Given the description of an element on the screen output the (x, y) to click on. 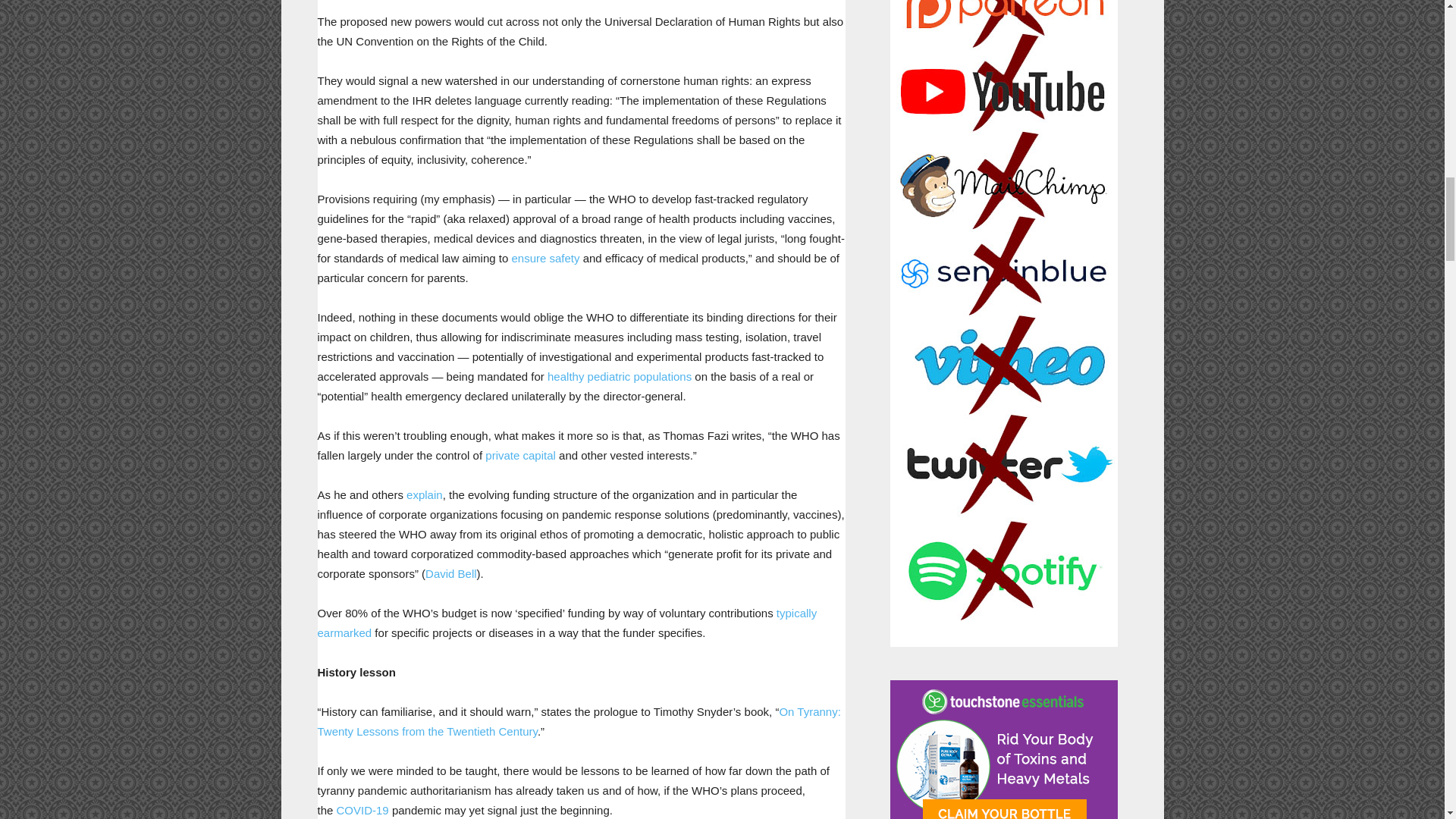
David Bell (451, 573)
ensure safety (545, 257)
private capital (520, 454)
healthy pediatric populations (619, 376)
explain (424, 494)
